Given the description of an element on the screen output the (x, y) to click on. 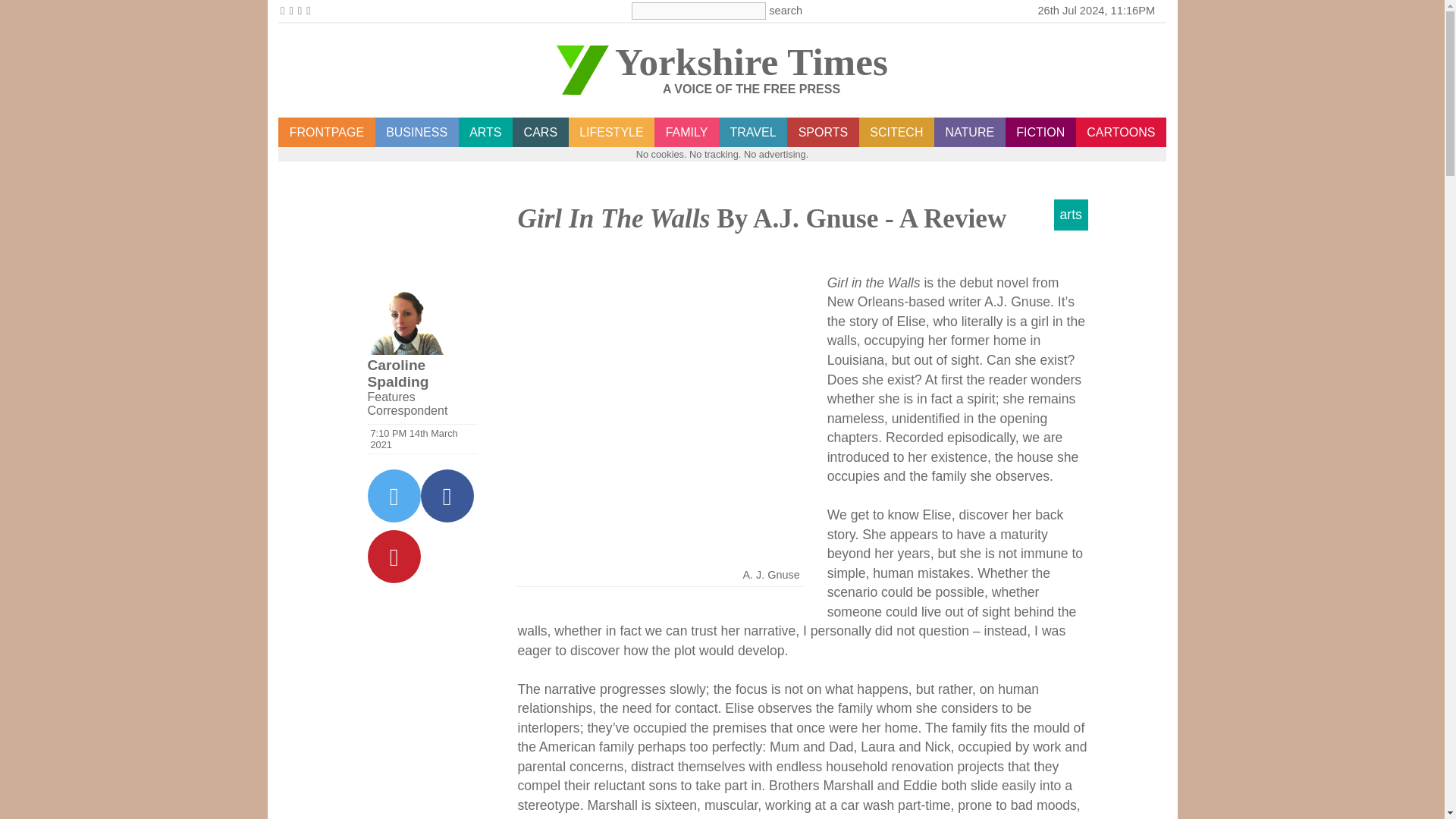
ARTS (485, 132)
CARS (540, 132)
SCITECH (896, 132)
FICTION (1040, 132)
LIFESTYLE (612, 132)
BUSINESS (416, 132)
FAMILY (686, 132)
NATURE (970, 132)
FRONTPAGE (326, 132)
CARTOONS (1120, 132)
SPORTS (823, 132)
TRAVEL (753, 132)
